Given the description of an element on the screen output the (x, y) to click on. 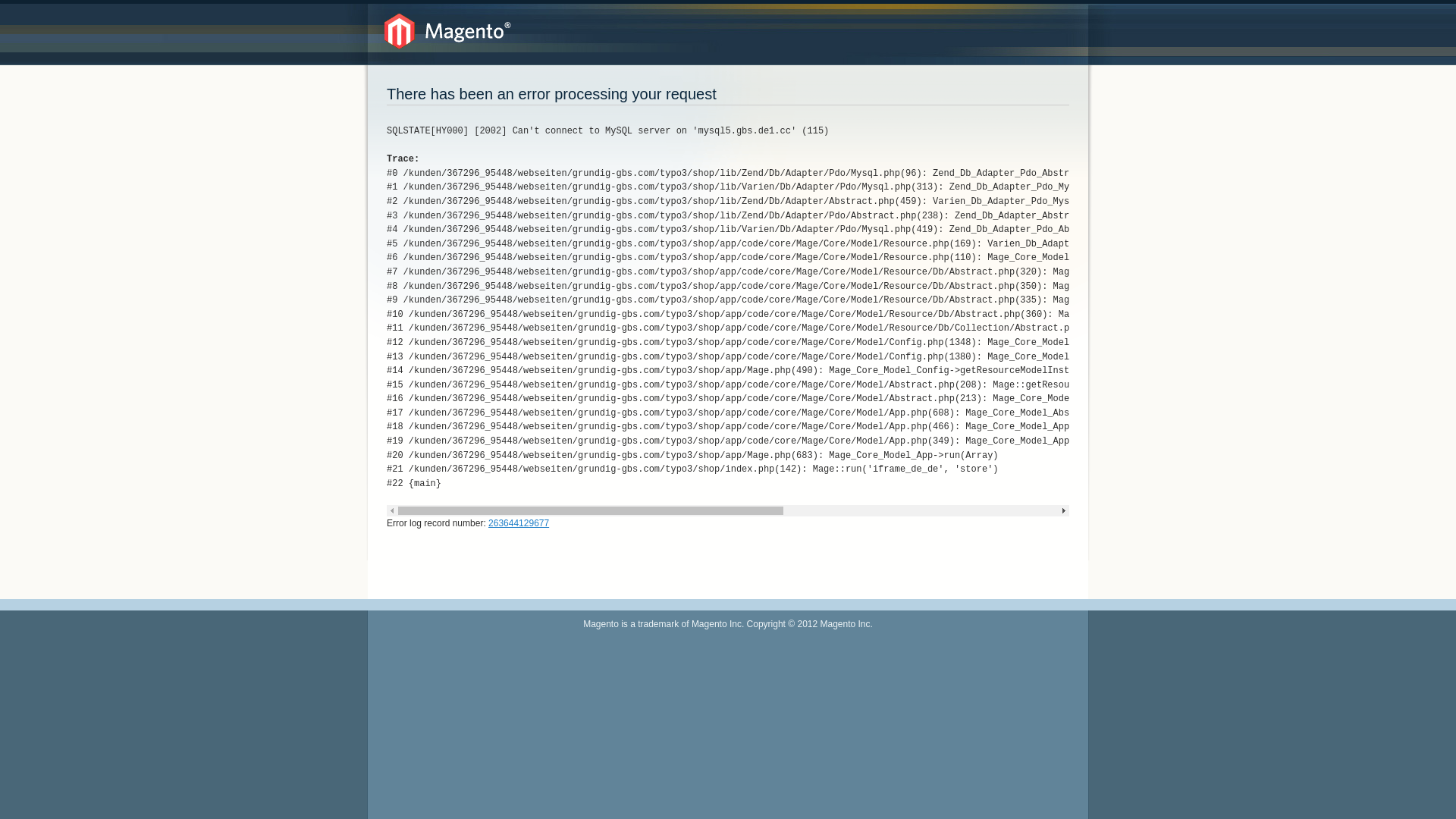
Magento Commerce Element type: hover (447, 31)
263644129677 Element type: text (518, 522)
